Given the description of an element on the screen output the (x, y) to click on. 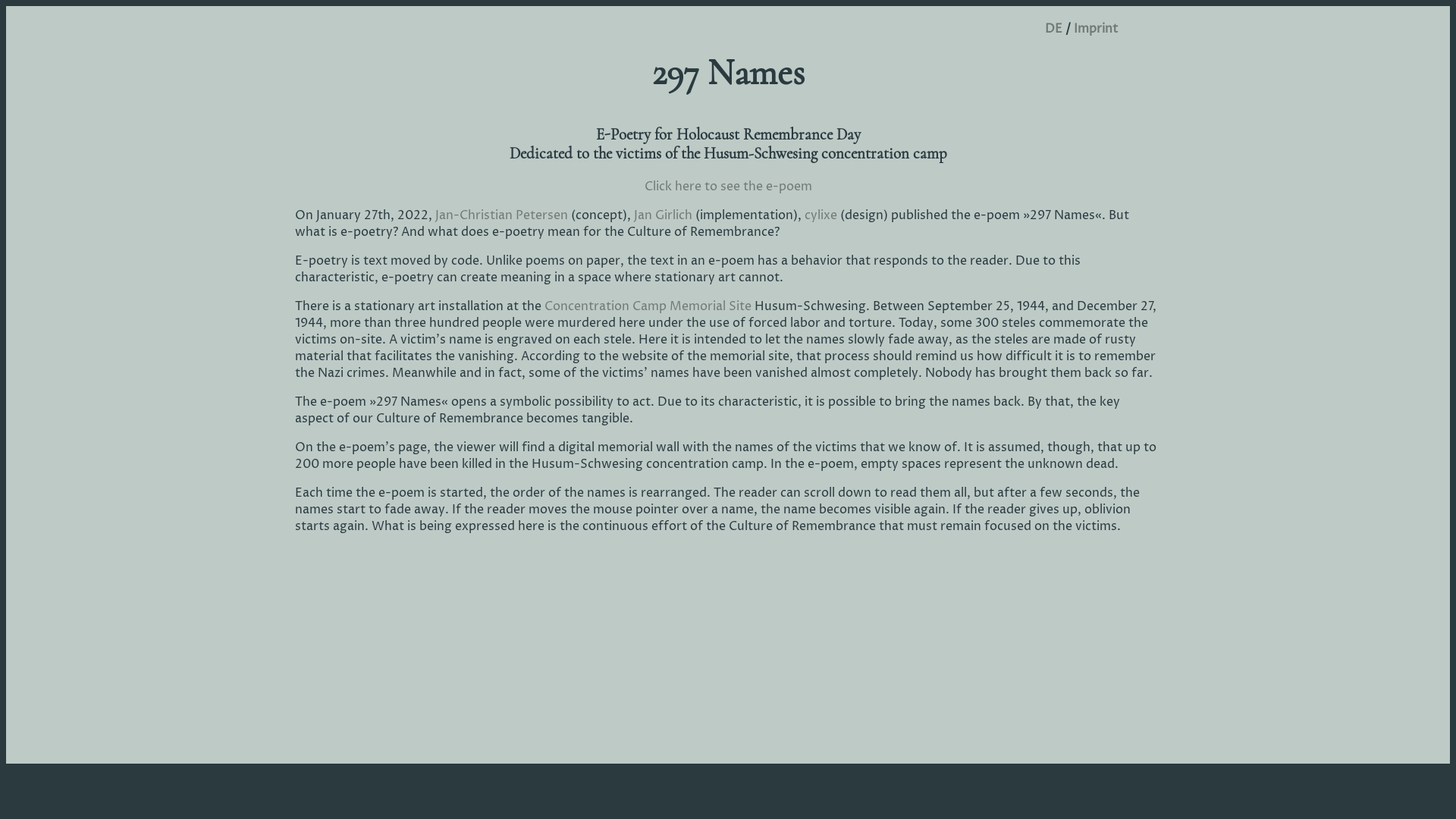
Click here to see the e-poem Element type: text (728, 186)
Concentration Camp Memorial Site Element type: text (647, 306)
cylixe Element type: text (820, 215)
Jan-Christian Petersen Element type: text (501, 215)
DE Element type: text (1053, 28)
Jan Girlich Element type: text (662, 215)
Imprint Element type: text (1095, 28)
